Given the description of an element on the screen output the (x, y) to click on. 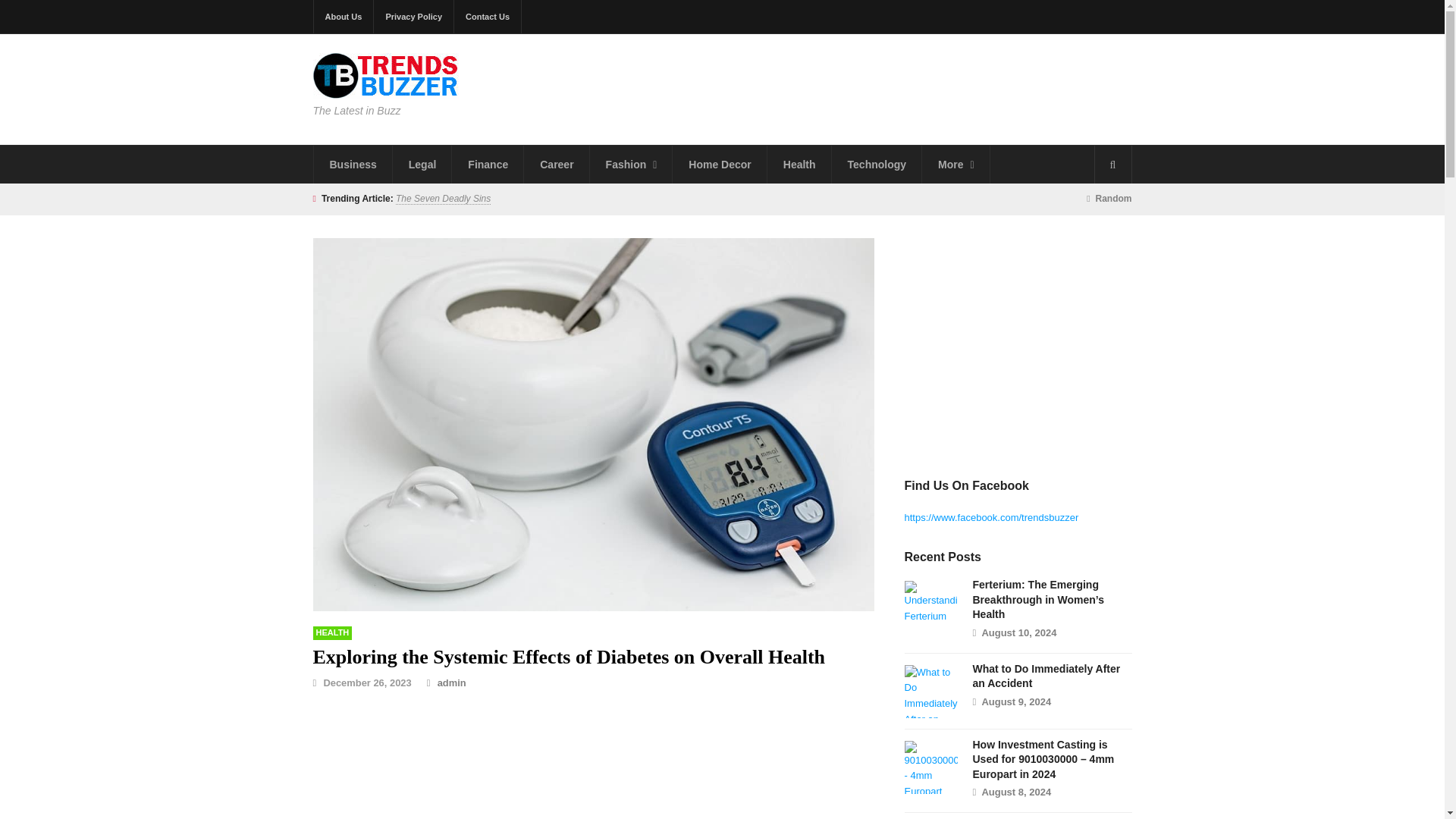
Health (799, 164)
Fashion (630, 164)
Search (1112, 164)
HEALTH (332, 632)
Health (332, 632)
Home Decor (719, 164)
Business (353, 164)
About Us (344, 16)
The Seven Deadly Sins (443, 198)
Technology (877, 164)
